Given the description of an element on the screen output the (x, y) to click on. 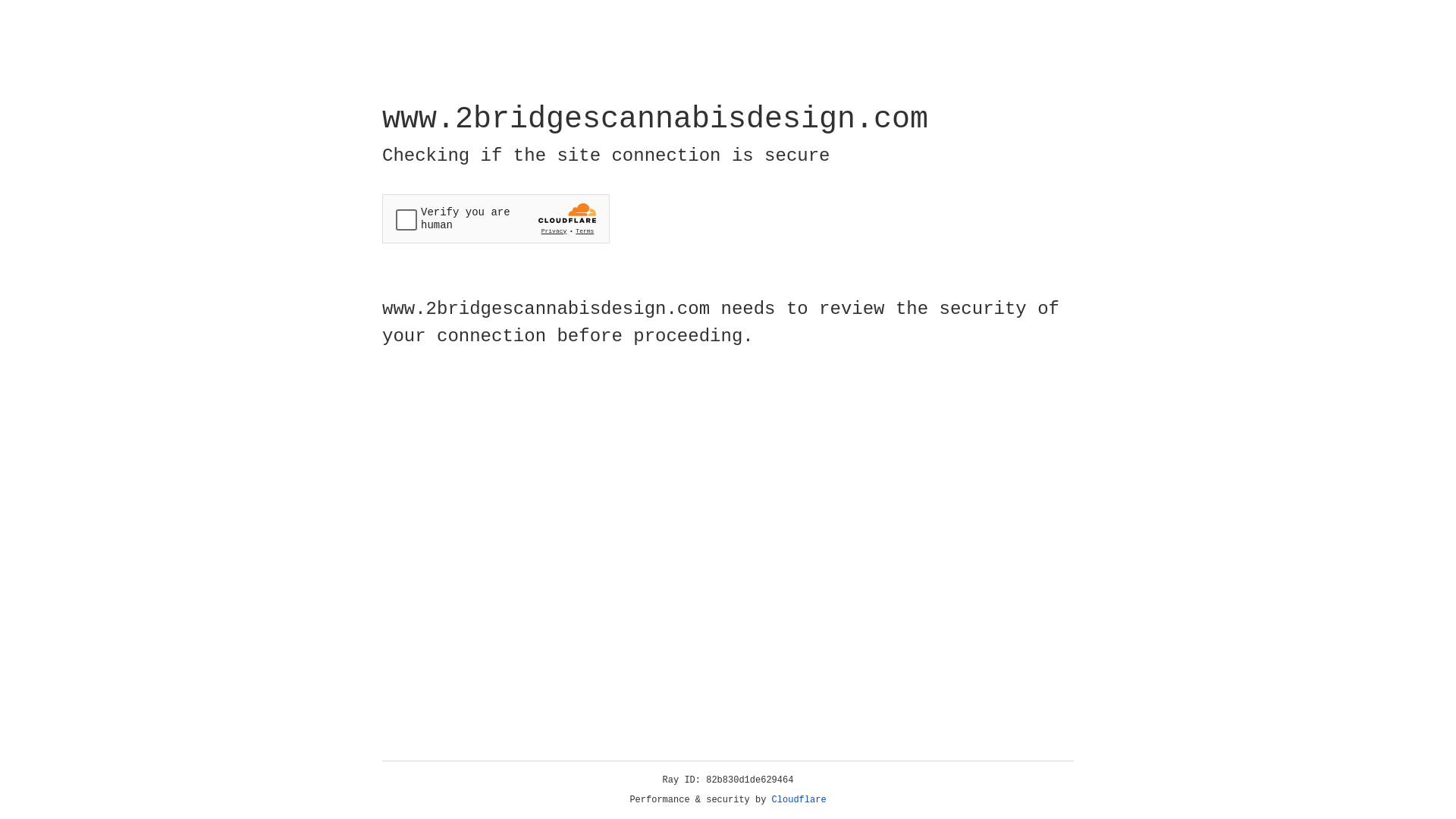
Widget containing a Cloudflare security challenge Element type: hover (495, 218)
Cloudflare Element type: text (798, 799)
